Given the description of an element on the screen output the (x, y) to click on. 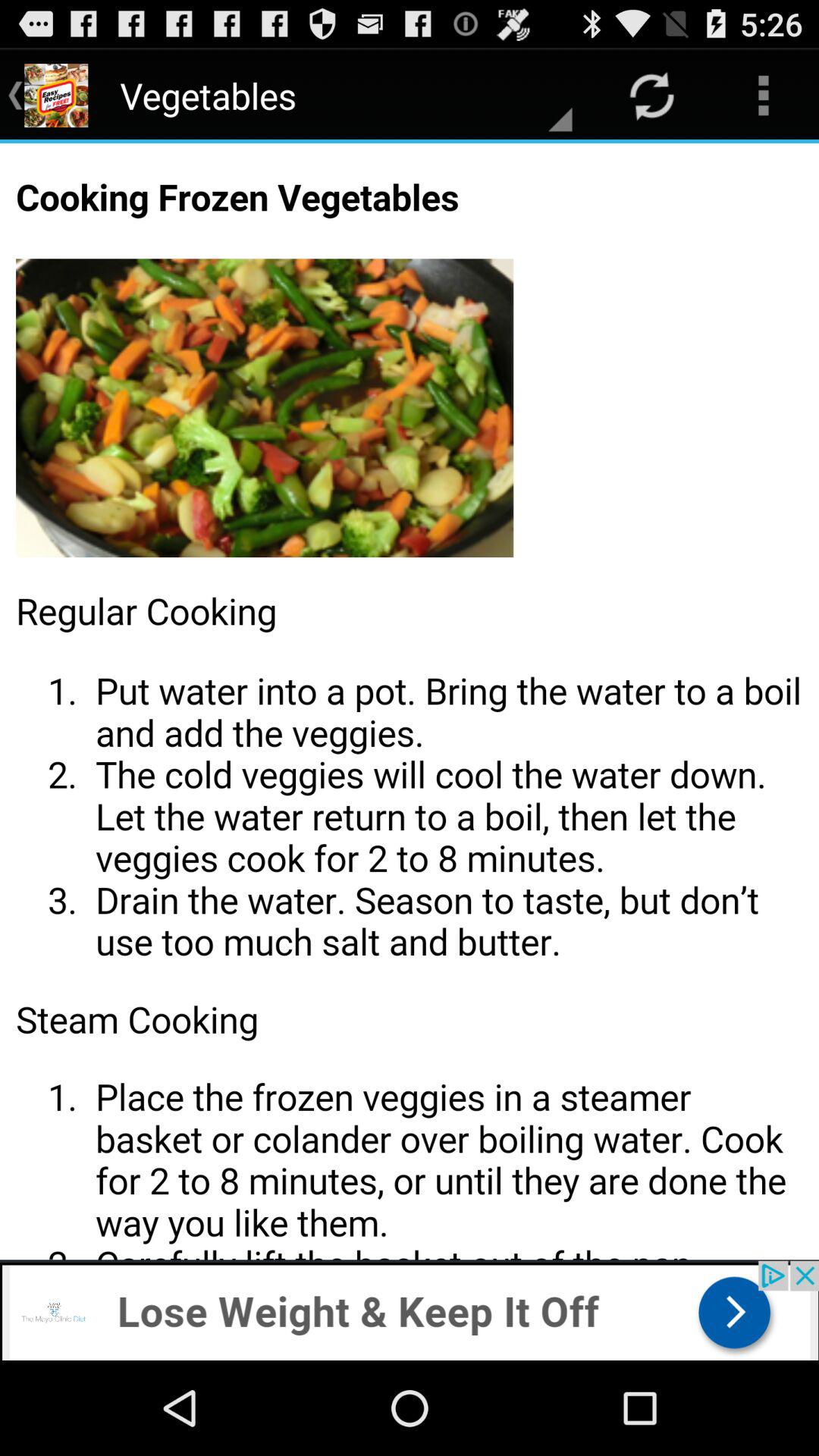
view advertisement (409, 1310)
